Given the description of an element on the screen output the (x, y) to click on. 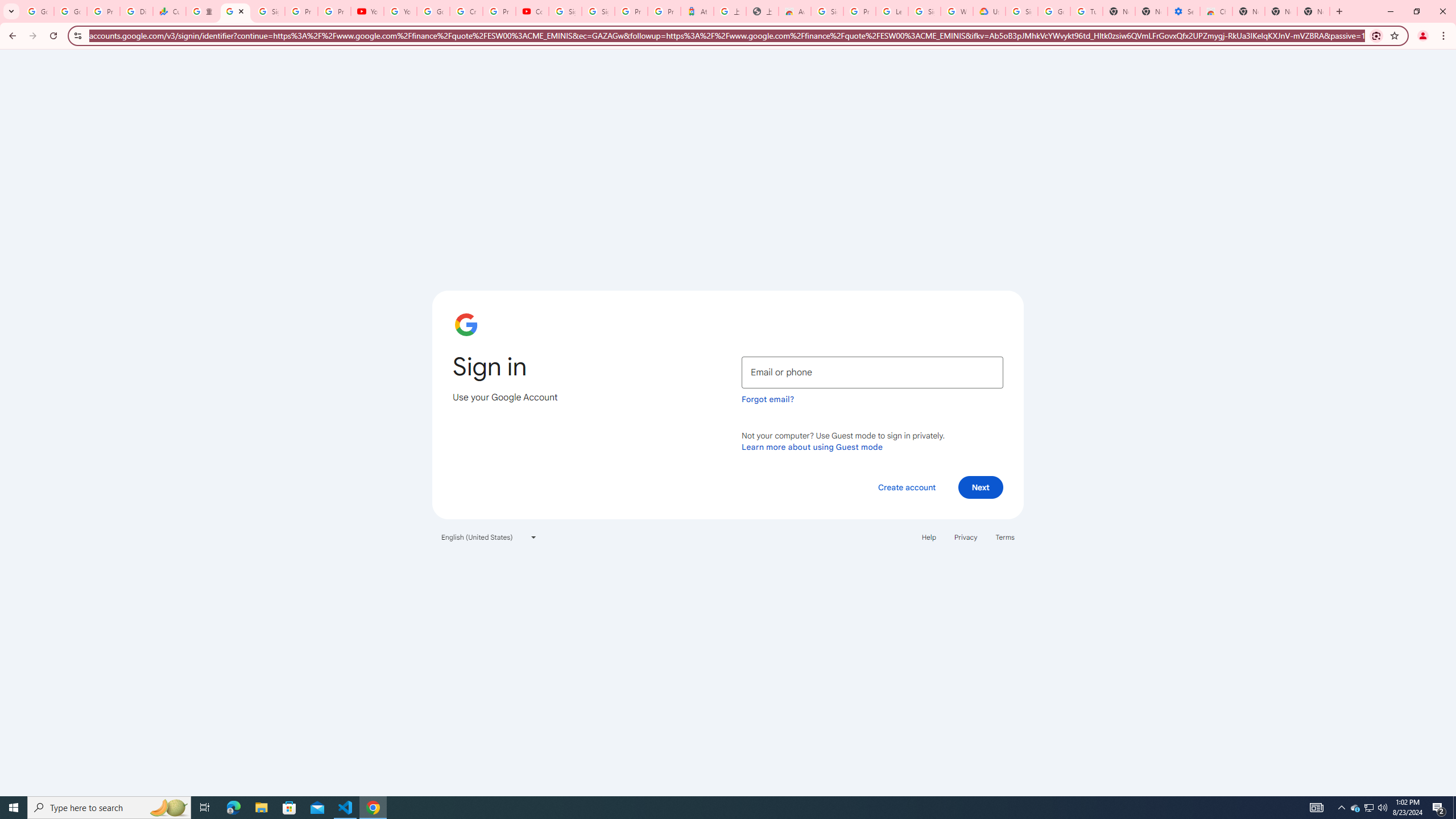
Create account (905, 486)
Awesome Screen Recorder & Screenshot - Chrome Web Store (794, 11)
Email or phone (872, 372)
Sign in - Google Accounts (564, 11)
Learn more about using Guest mode (812, 446)
Settings - Accessibility (1183, 11)
Sign in - Google Accounts (235, 11)
Google Account Help (433, 11)
YouTube (400, 11)
English (United States) (489, 536)
New Tab (1248, 11)
